Given the description of an element on the screen output the (x, y) to click on. 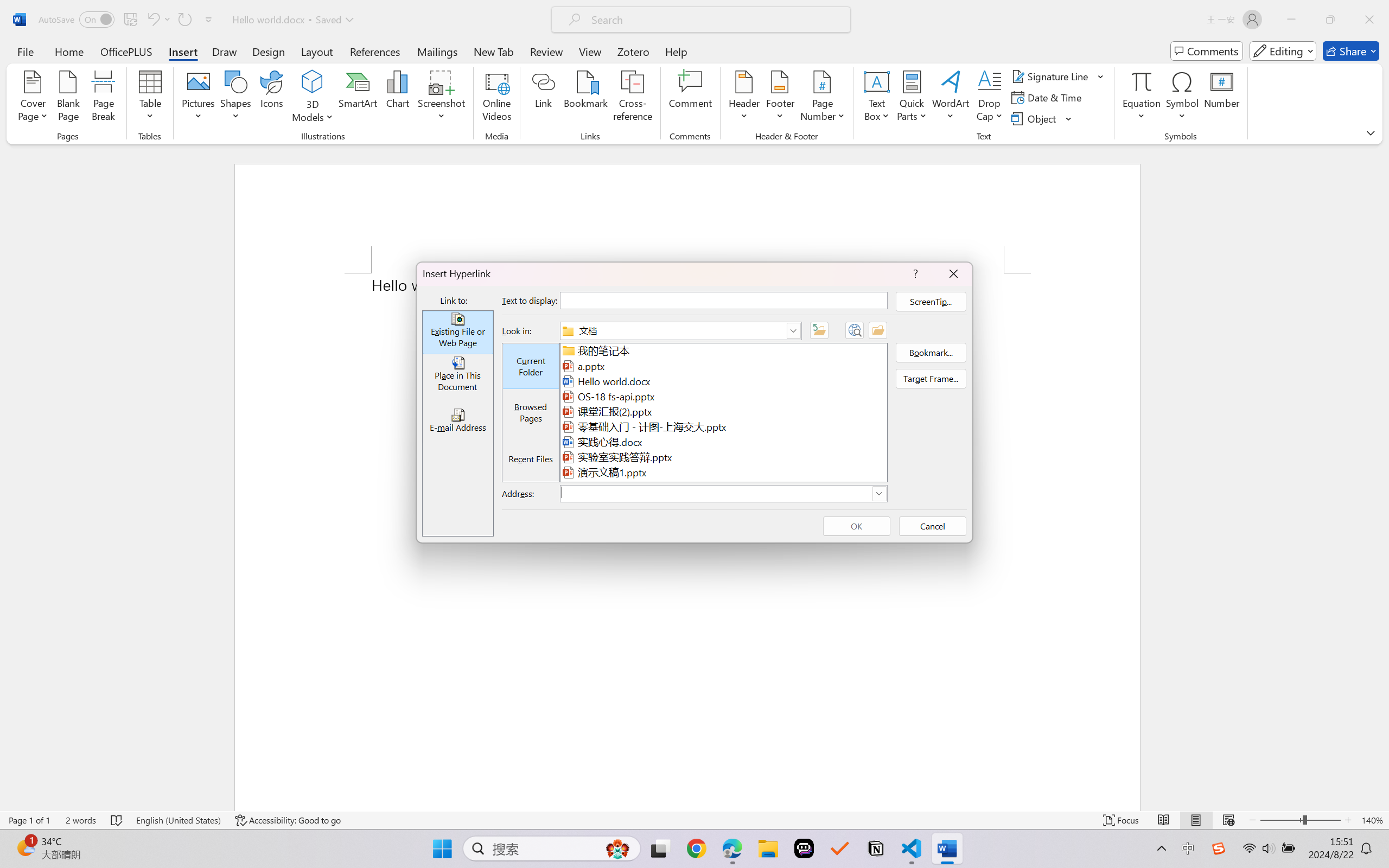
Web Layout (1228, 819)
Date & Time... (1048, 97)
Help (675, 51)
Footer (780, 97)
Signature Line (1058, 75)
Focus  (1121, 819)
Cross-reference... (632, 97)
Close (1369, 19)
Page Number Page 1 of 1 (29, 819)
File Tab (24, 51)
OfficePLUS (126, 51)
Ribbon Display Options (1370, 132)
